Given the description of an element on the screen output the (x, y) to click on. 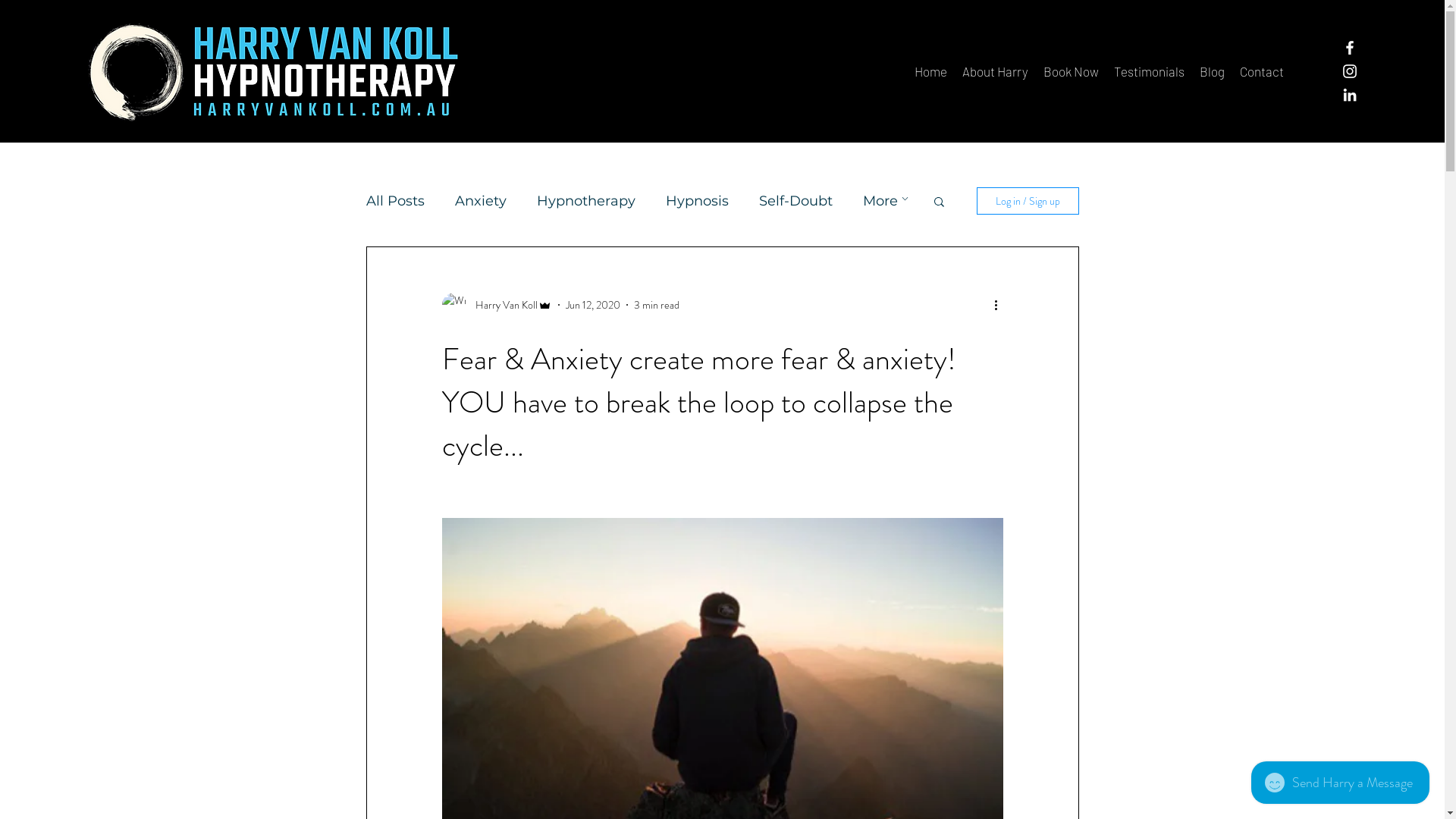
Self-Doubt Element type: text (794, 200)
Blog Element type: text (1212, 70)
Book Now Element type: text (1070, 70)
All Posts Element type: text (394, 200)
Testimonials Element type: text (1149, 70)
Hypnosis Element type: text (696, 200)
About Harry Element type: text (994, 70)
Home Element type: text (930, 70)
Contact Element type: text (1261, 70)
Log in / Sign up Element type: text (1027, 200)
Hypnotherapy Element type: text (585, 200)
Anxiety Element type: text (480, 200)
